Given the description of an element on the screen output the (x, y) to click on. 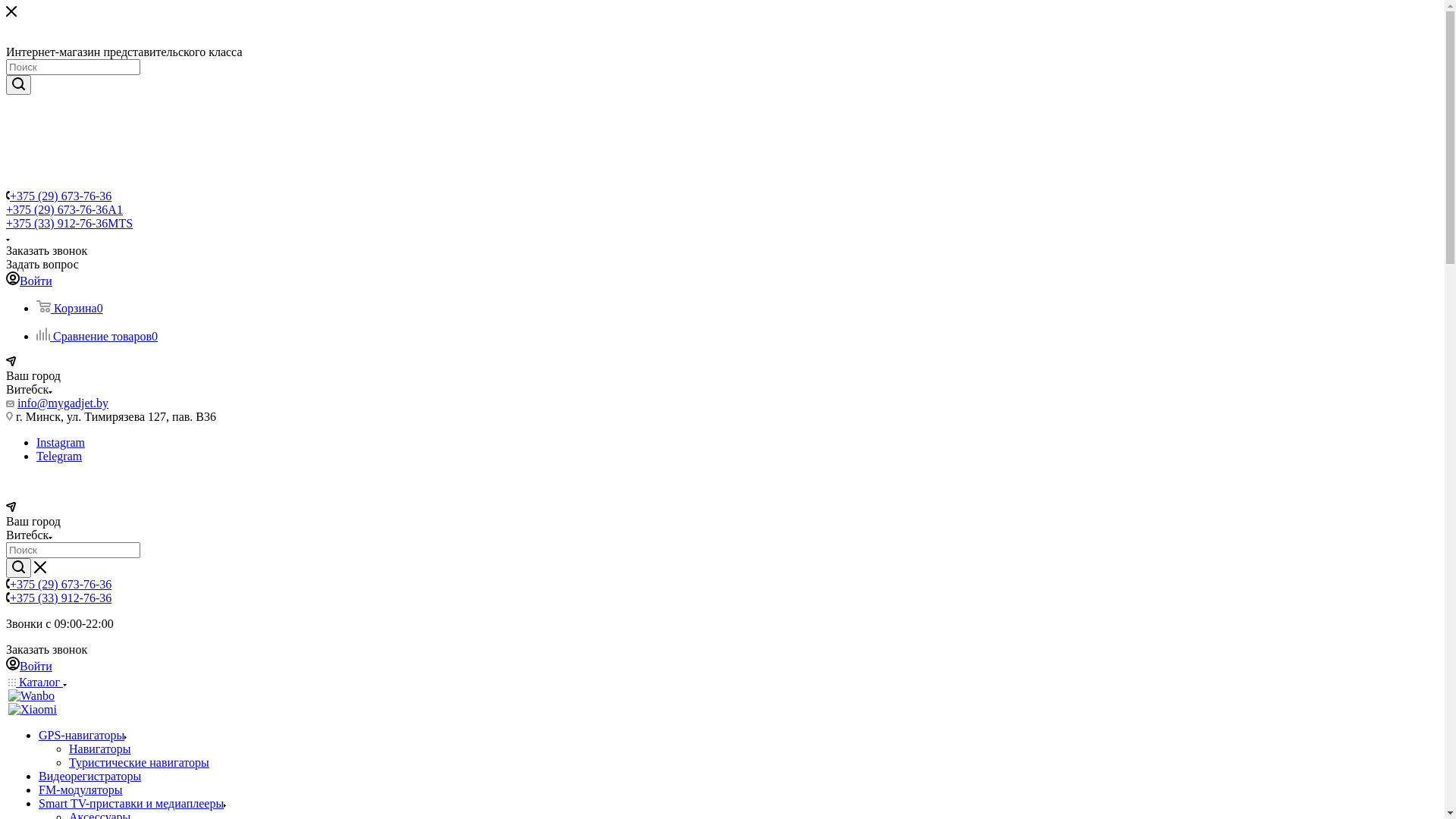
+375 (33) 912-76-36MTS Element type: text (69, 222)
+375 (29) 673-76-36A1 Element type: text (64, 209)
+375 (29) 673-76-36 Element type: text (60, 583)
+375 (33) 912-76-36 Element type: text (60, 597)
Xiaomi Element type: hover (32, 709)
info@mygadjet.by Element type: text (62, 402)
+375 (29) 673-76-36 Element type: text (60, 195)
Telegram Element type: text (58, 455)
Wanbo Element type: hover (31, 695)
Instagram Element type: text (60, 442)
